Given the description of an element on the screen output the (x, y) to click on. 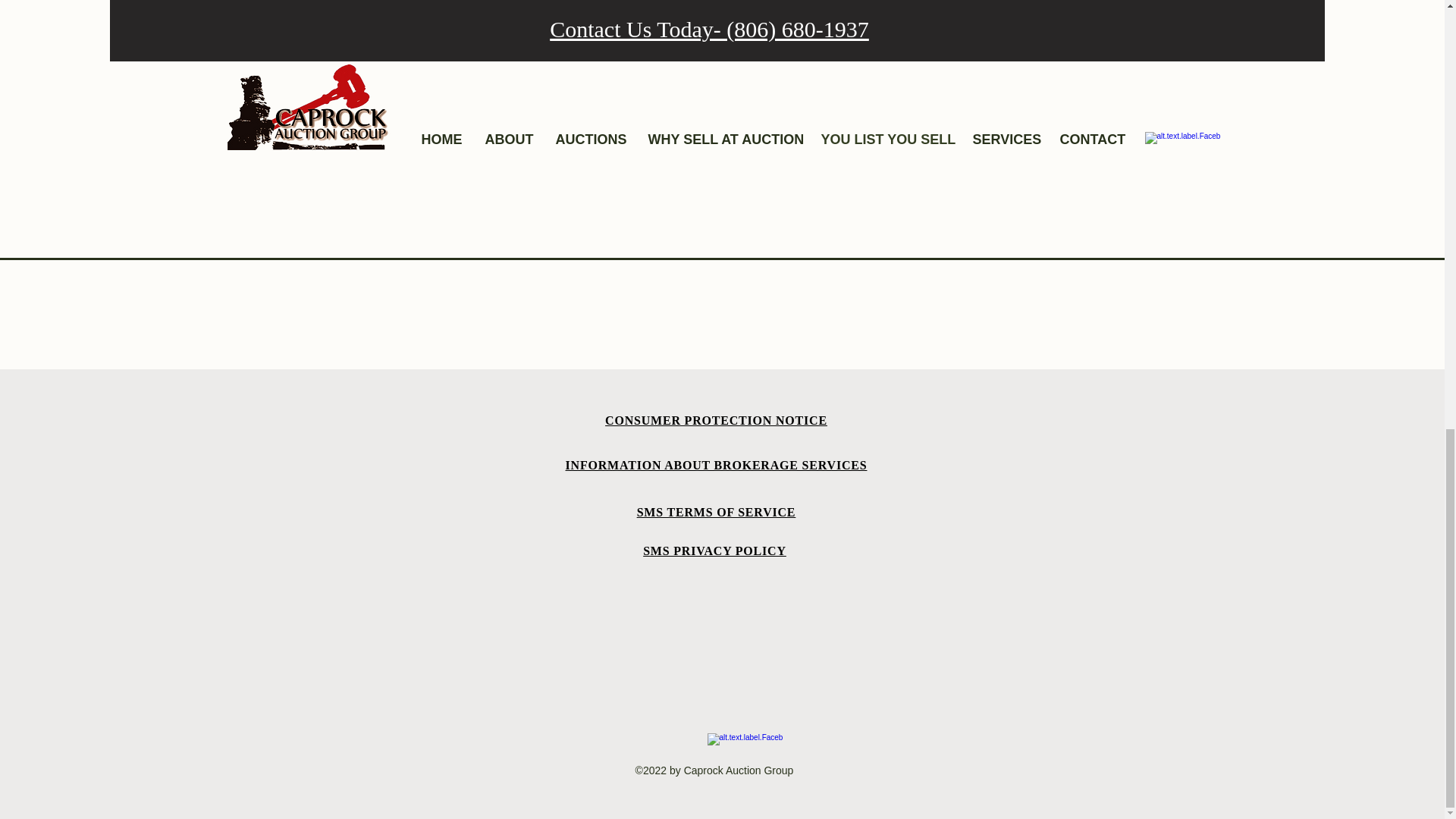
SMS PRIVACY POLICY (714, 550)
CONSUMER PROTECTION NOTICE (716, 420)
SMS TERMS OF SERVICE (716, 512)
INFORMATION ABOUT BROKERAGE SERVICES (716, 465)
